Given the description of an element on the screen output the (x, y) to click on. 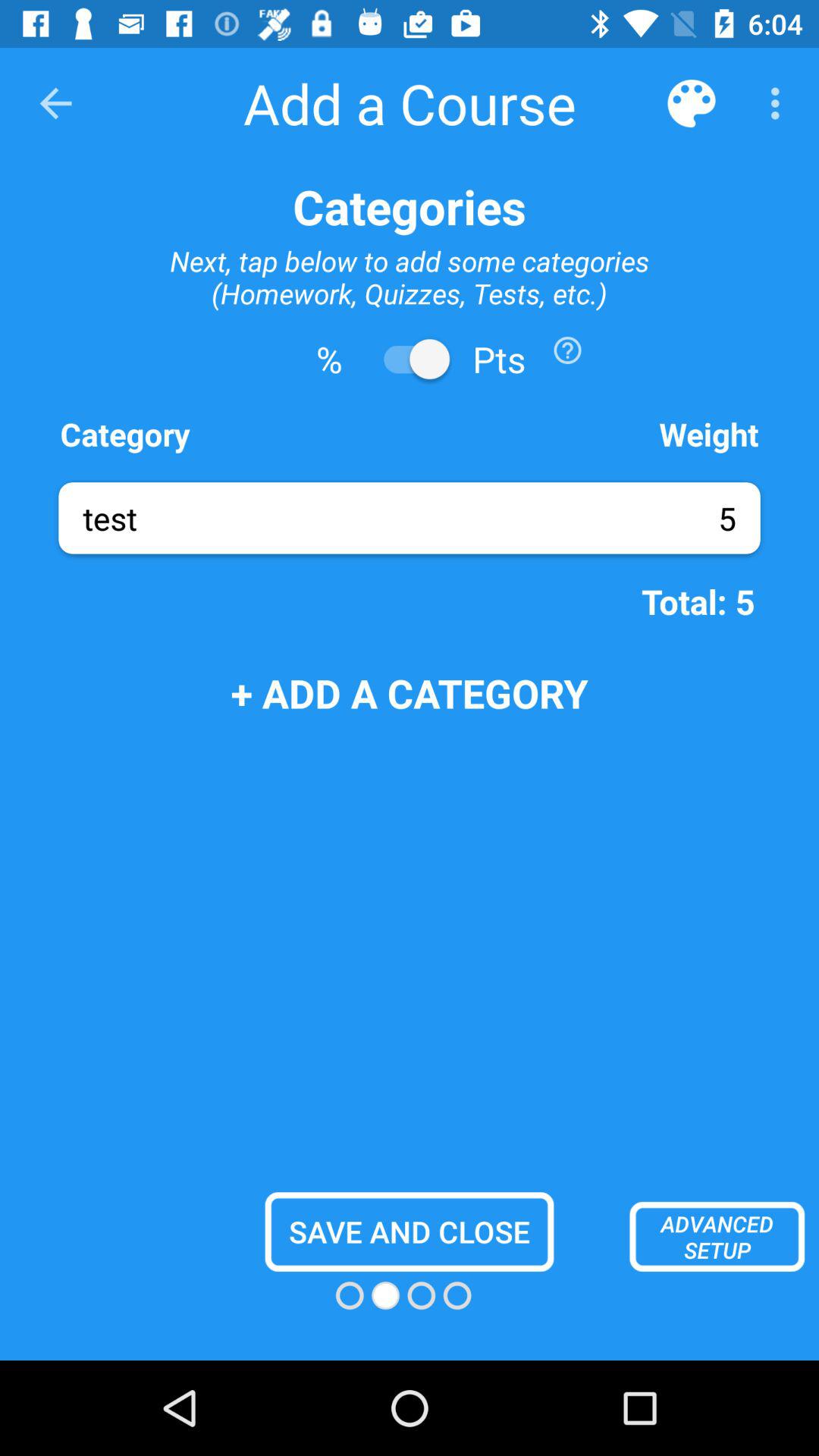
launch the icon below the next tap below (567, 350)
